Given the description of an element on the screen output the (x, y) to click on. 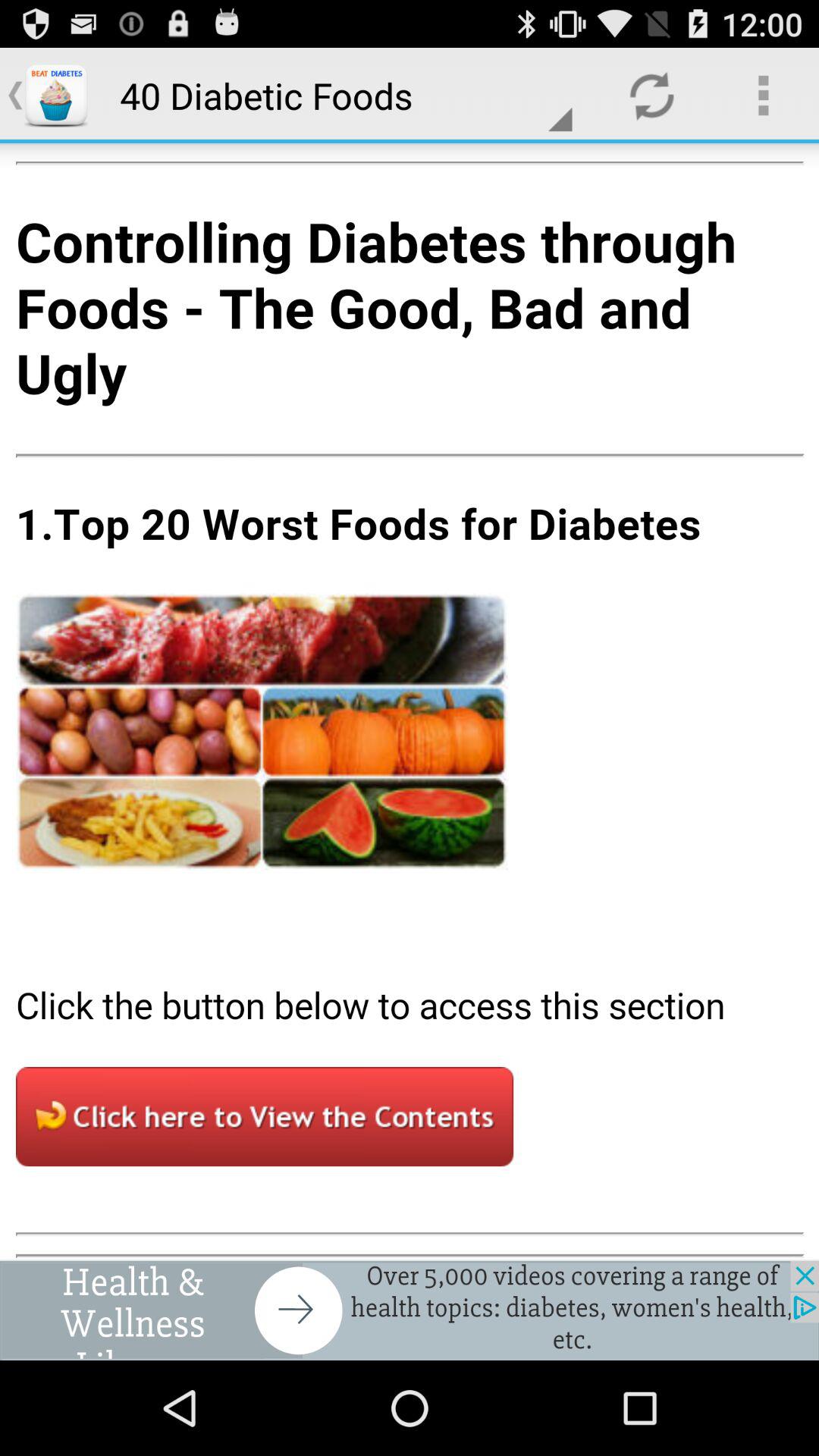
choose the selection (409, 701)
